Given the description of an element on the screen output the (x, y) to click on. 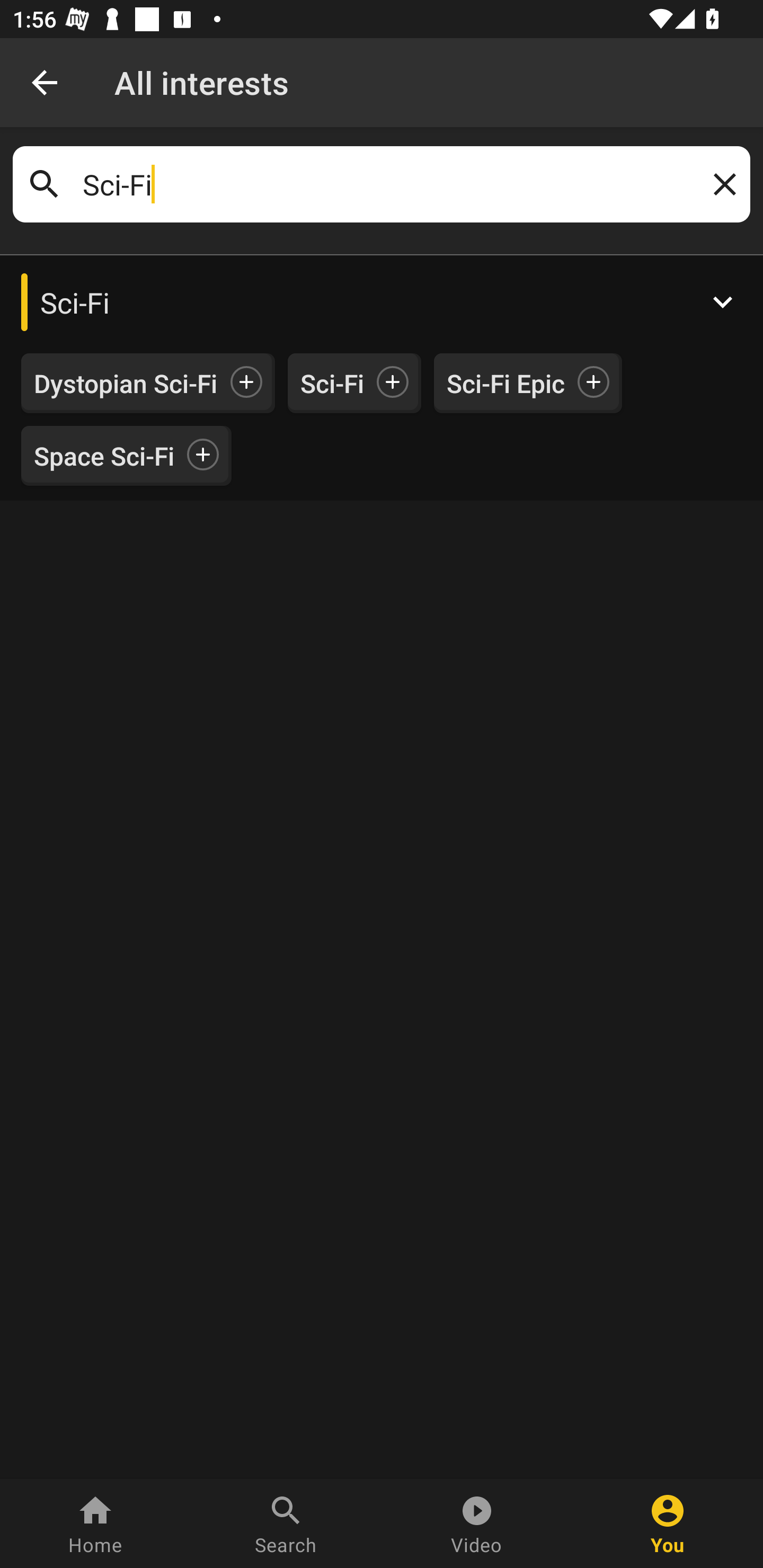
Clear query (721, 183)
Sci-Fi (381, 184)
Sci-Fi (381, 301)
Dystopian Sci-Fi (125, 382)
Sci-Fi (331, 382)
Sci-Fi Epic (505, 382)
Space Sci-Fi (103, 456)
Home (95, 1523)
Search (285, 1523)
Video (476, 1523)
